Given the description of an element on the screen output the (x, y) to click on. 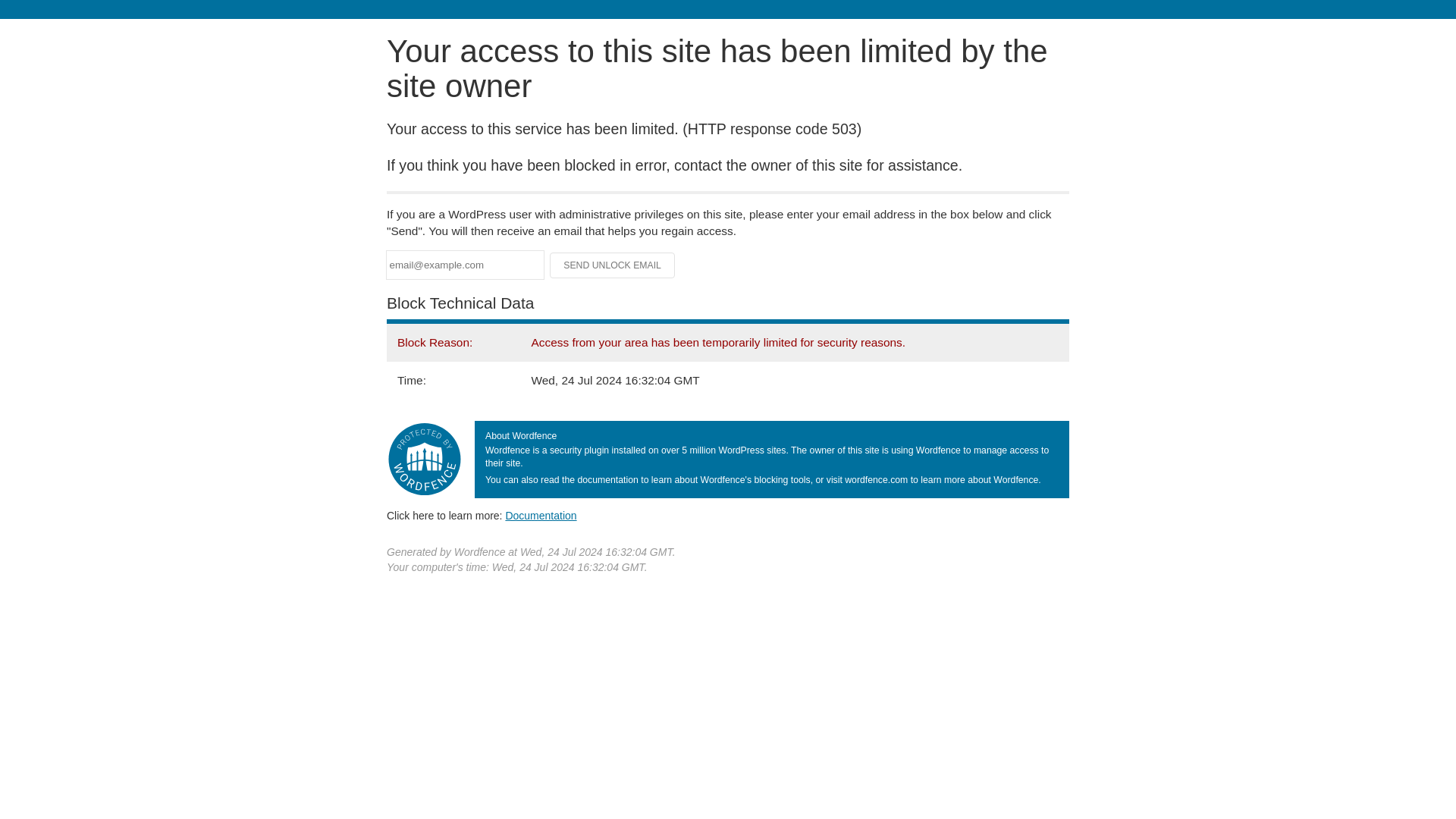
Documentation (540, 515)
Send Unlock Email (612, 265)
Send Unlock Email (612, 265)
